Given the description of an element on the screen output the (x, y) to click on. 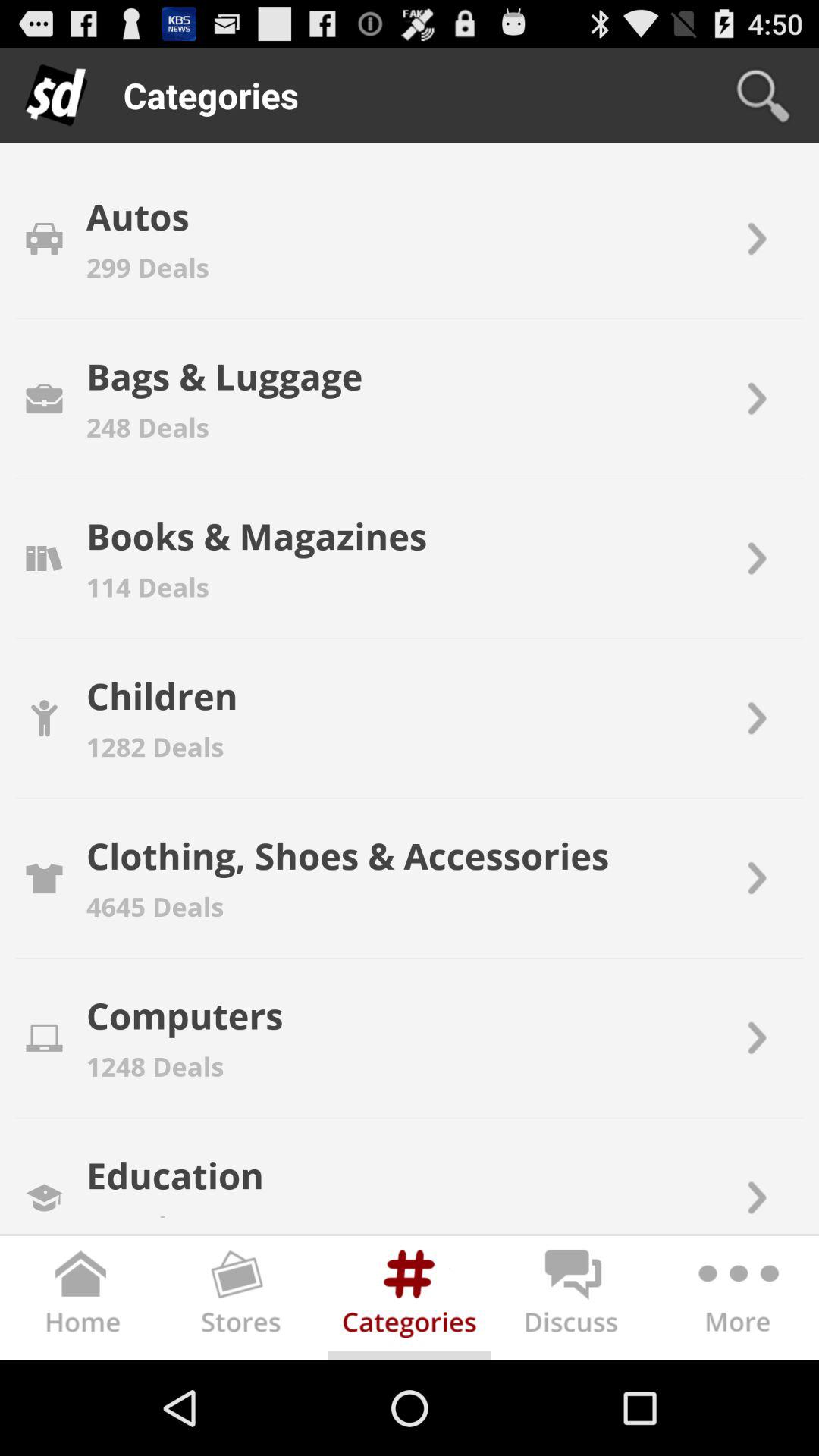
turn off icon next to the    categories icon (763, 95)
